Given the description of an element on the screen output the (x, y) to click on. 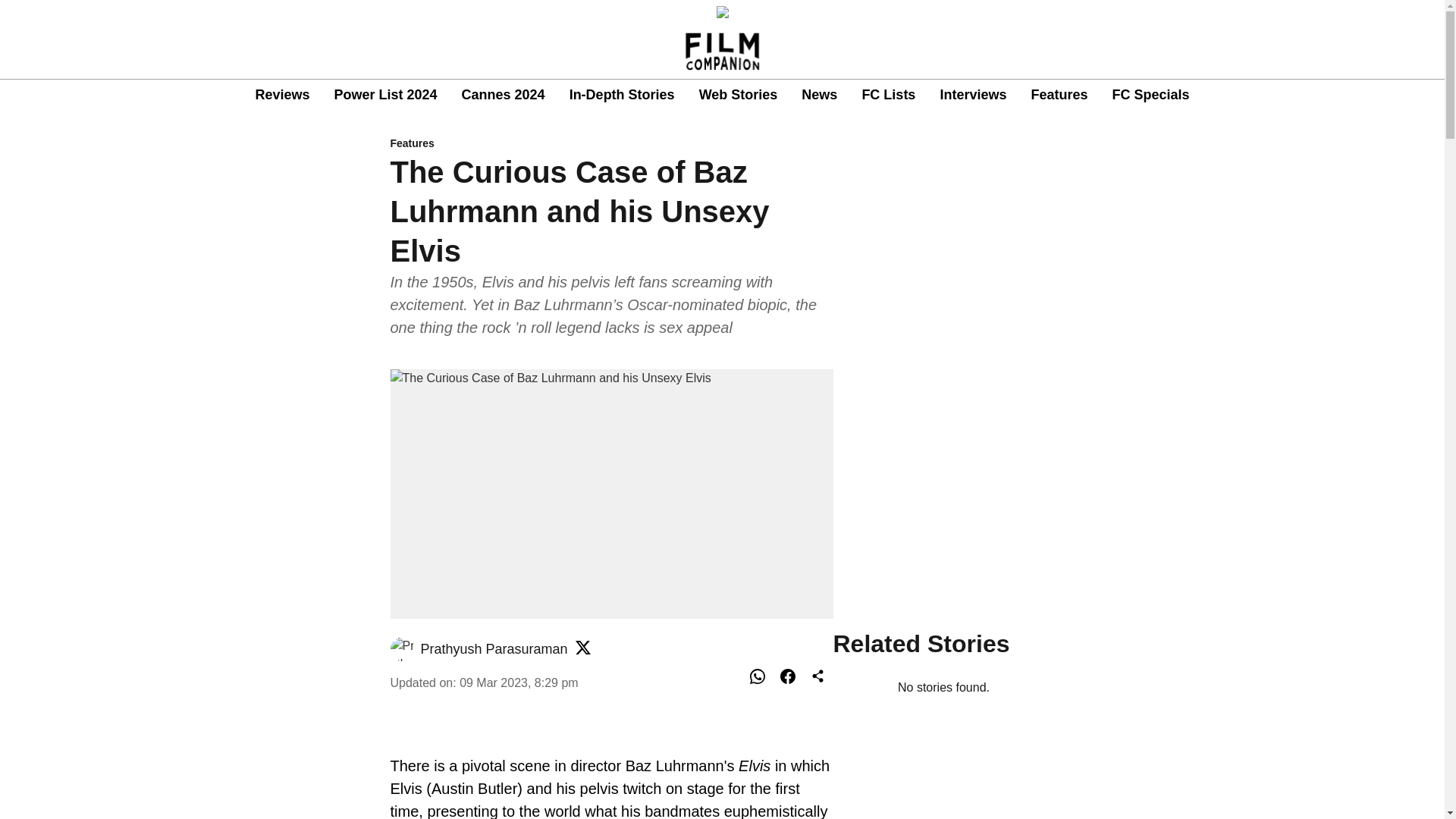
FC Lists (888, 95)
Web Stories (737, 95)
Advertisement (943, 493)
In-Depth Stories (622, 95)
Reviews (281, 95)
News (819, 95)
Features (1058, 95)
Cannes 2024 (502, 95)
Interviews (972, 95)
Power List 2024 (384, 95)
